Given the description of an element on the screen output the (x, y) to click on. 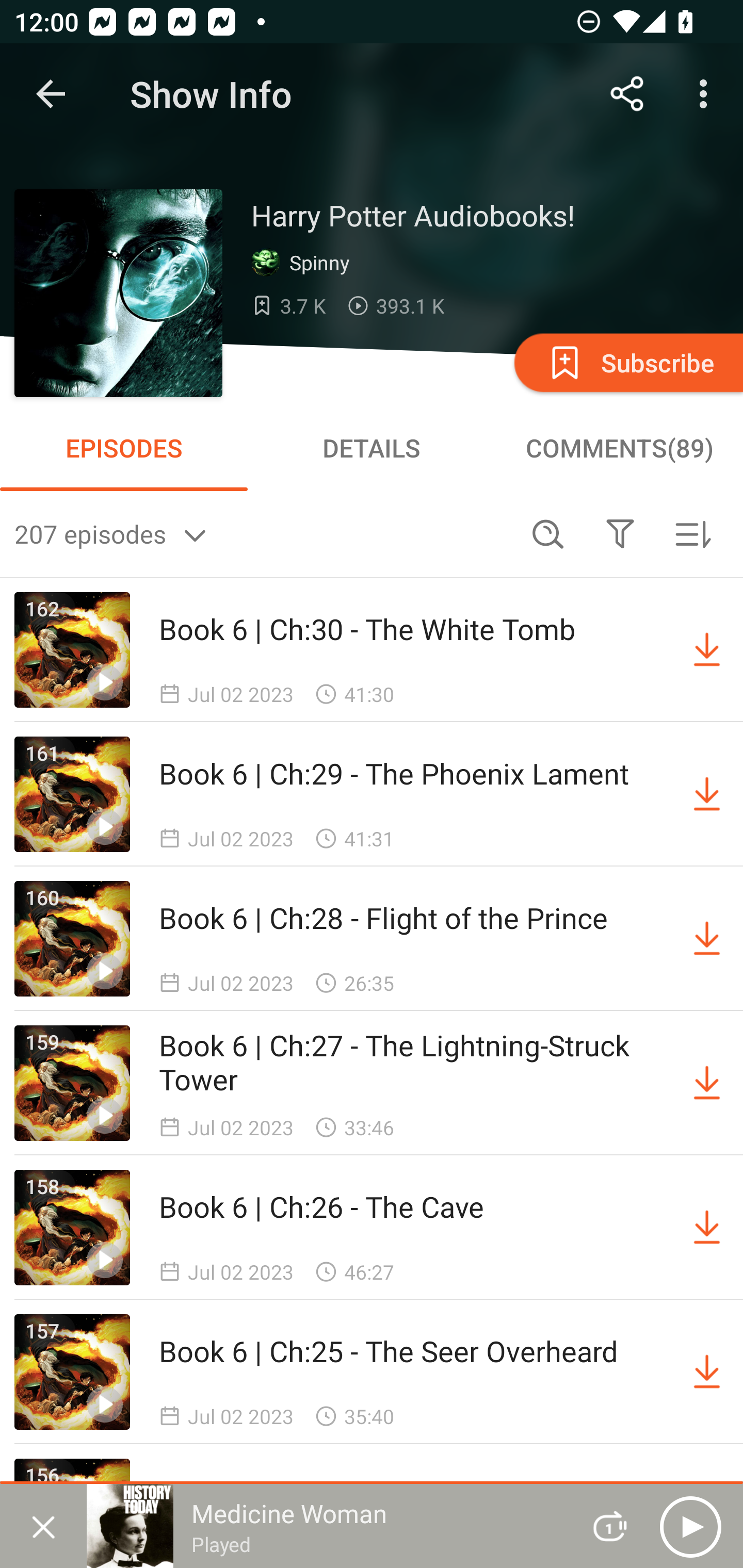
Navigate up (50, 93)
Share (626, 93)
More options (706, 93)
Spinny (304, 262)
Subscribe (627, 361)
EPISODES (123, 447)
DETAILS (371, 447)
COMMENTS(89) (619, 447)
207 episodes  (262, 533)
 Search (547, 533)
 (619, 533)
 Sorted by newest first (692, 533)
Download (706, 649)
Download (706, 793)
Download (706, 939)
Download (706, 1083)
Download (706, 1227)
Medicine Woman Played (326, 1525)
Play (690, 1526)
